Given the description of an element on the screen output the (x, y) to click on. 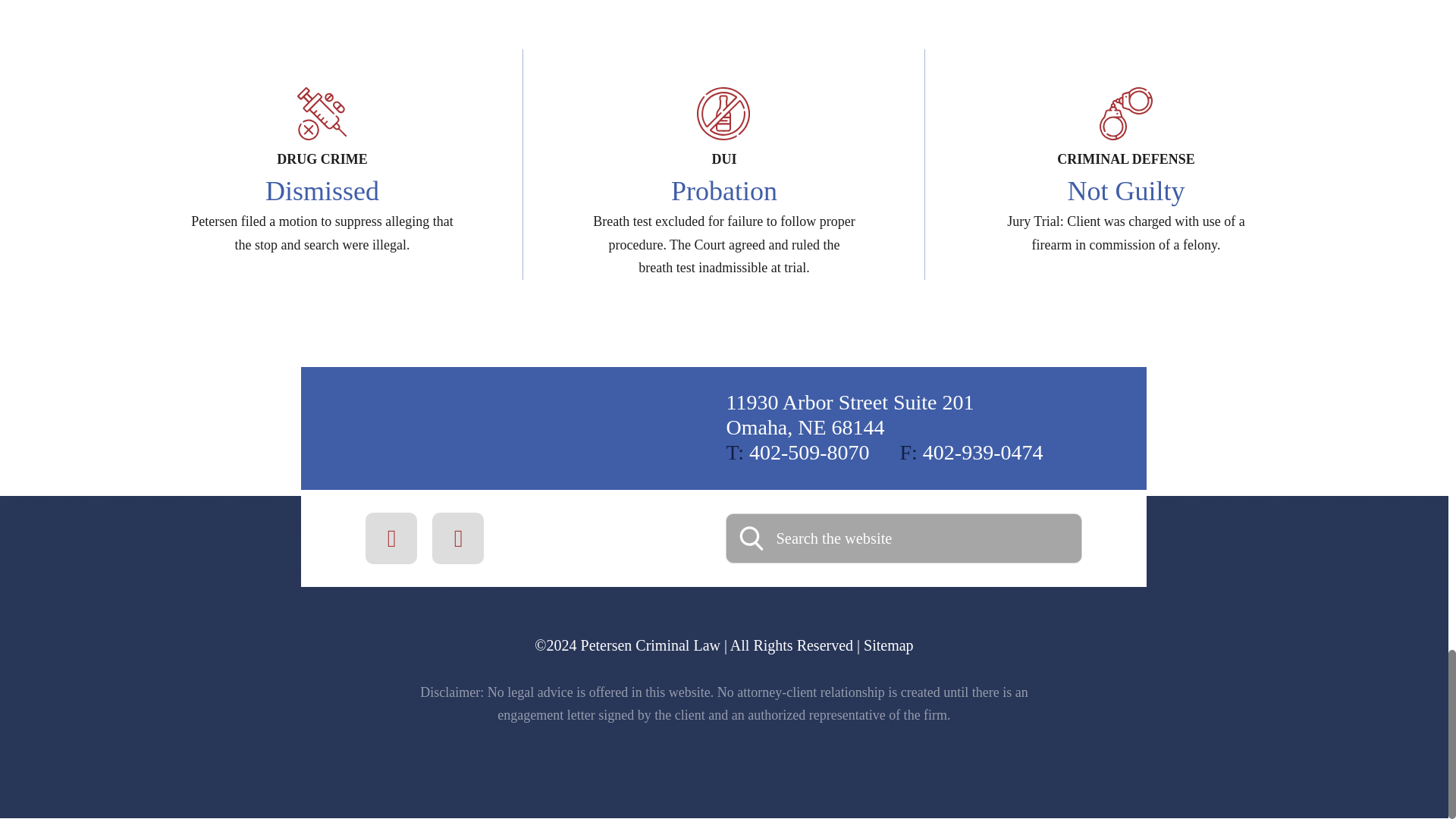
Call Petersen Criminal Law (797, 452)
Call Petersen Criminal Law (971, 452)
Petersen Criminal Law's sitemap (883, 645)
